Given the description of an element on the screen output the (x, y) to click on. 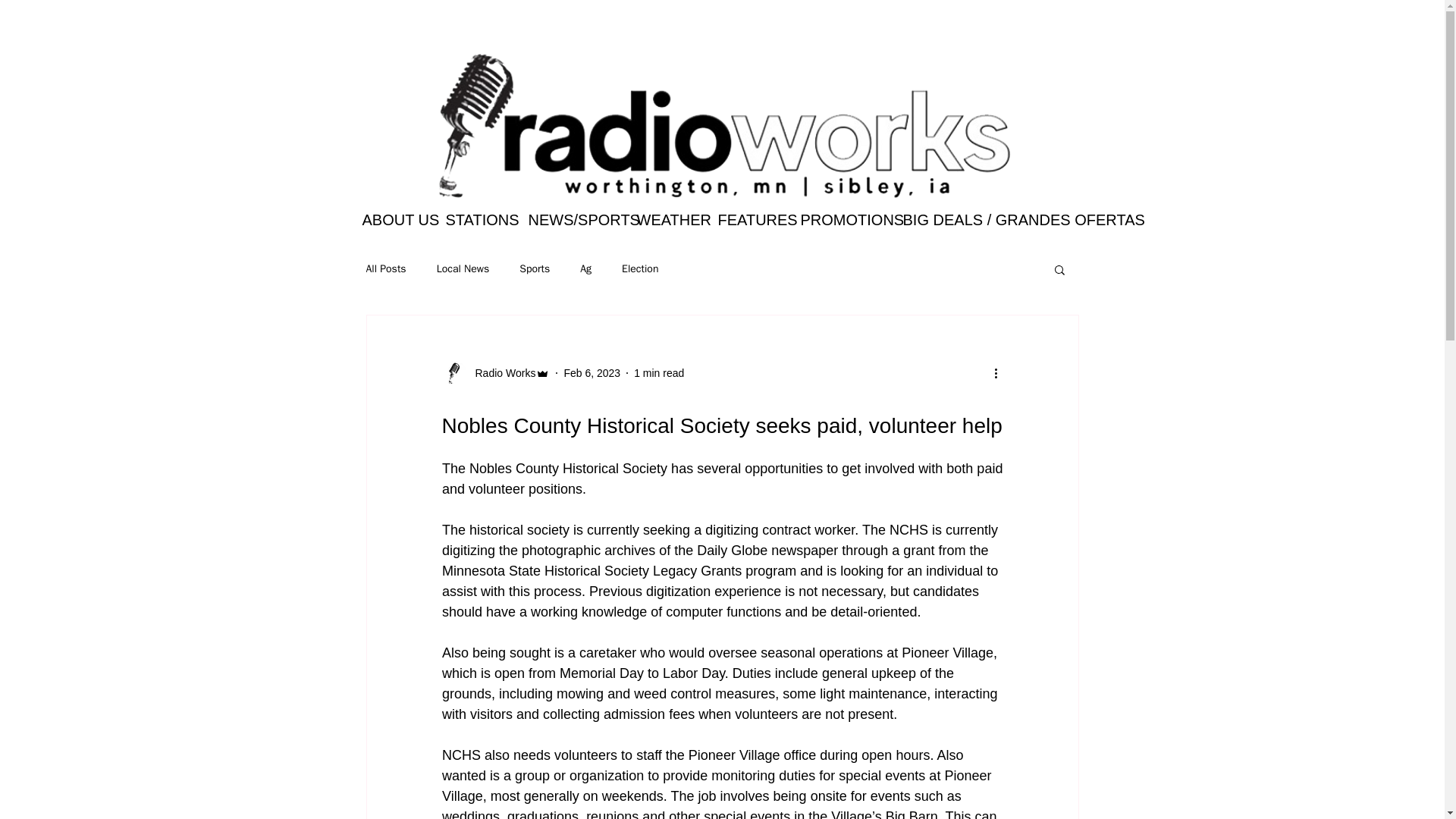
Election (639, 269)
WEATHER (665, 219)
All Posts (385, 269)
Radio Works (495, 372)
Radio Works (500, 373)
FEATURES (747, 219)
Sports (534, 269)
Local News (462, 269)
STATIONS (474, 219)
ABOUT US (391, 219)
